Given the description of an element on the screen output the (x, y) to click on. 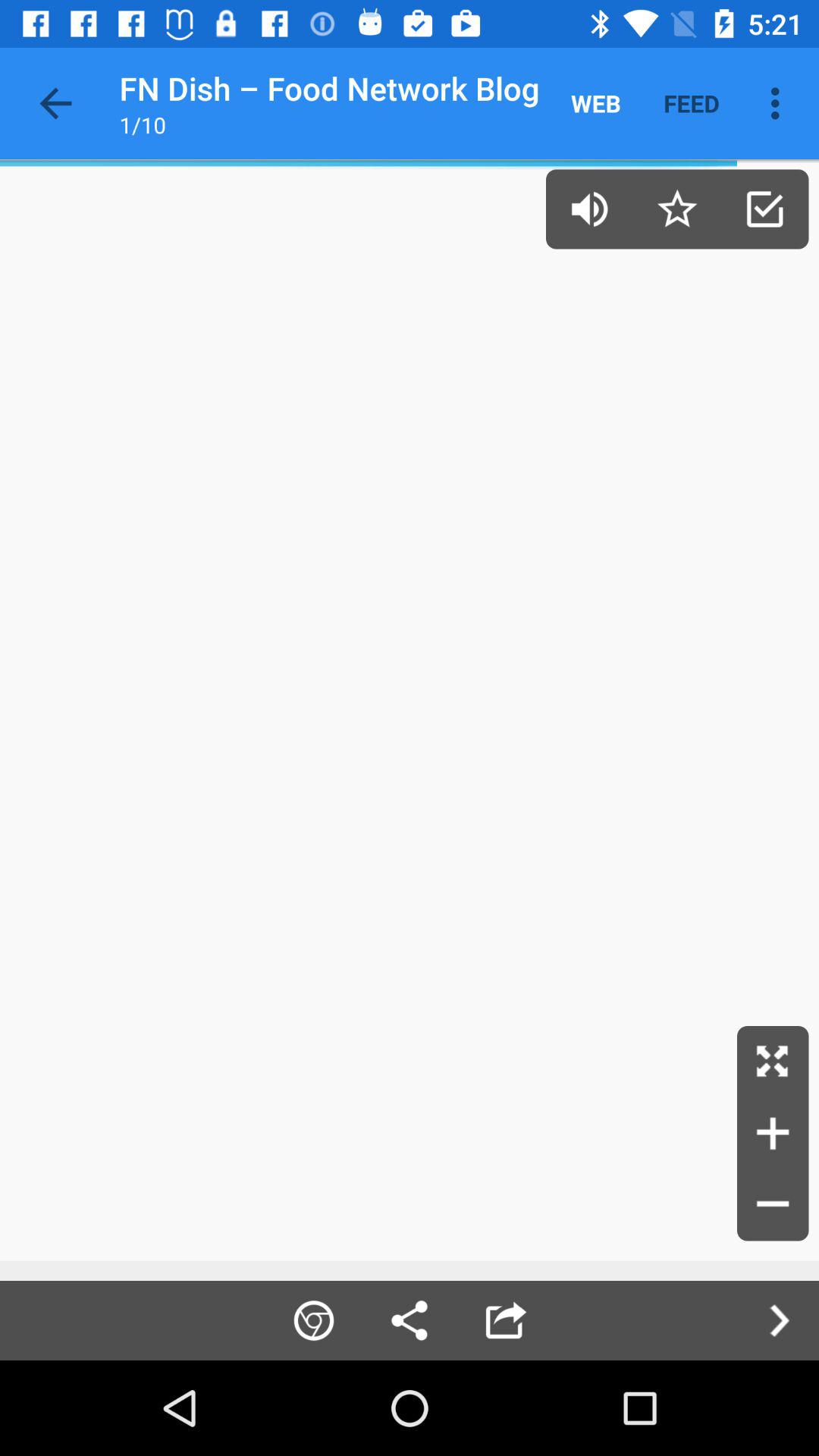
jump to web (595, 103)
